Given the description of an element on the screen output the (x, y) to click on. 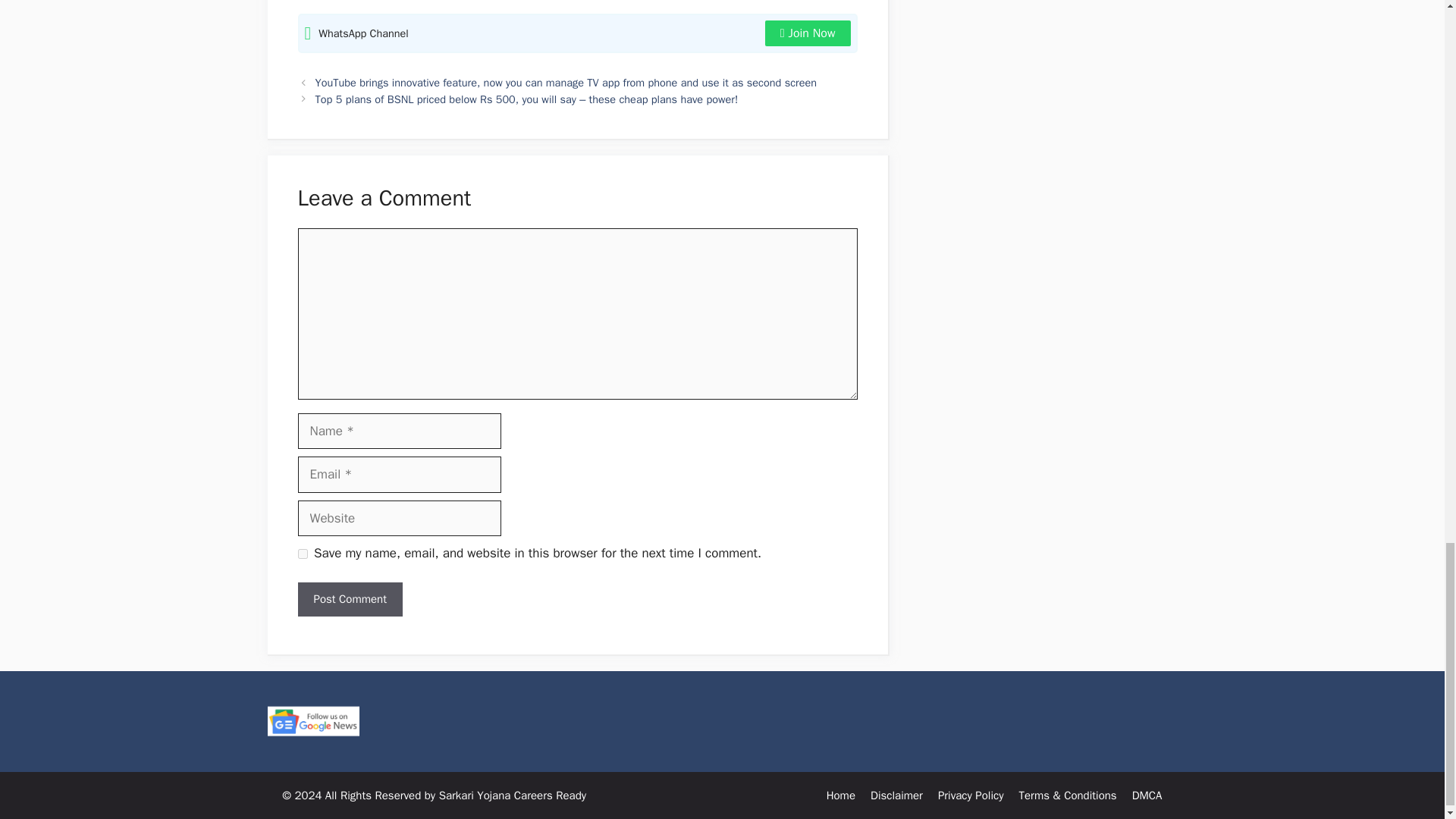
yes (302, 553)
Join Now (807, 32)
Post Comment (349, 599)
Post Comment (349, 599)
